Given the description of an element on the screen output the (x, y) to click on. 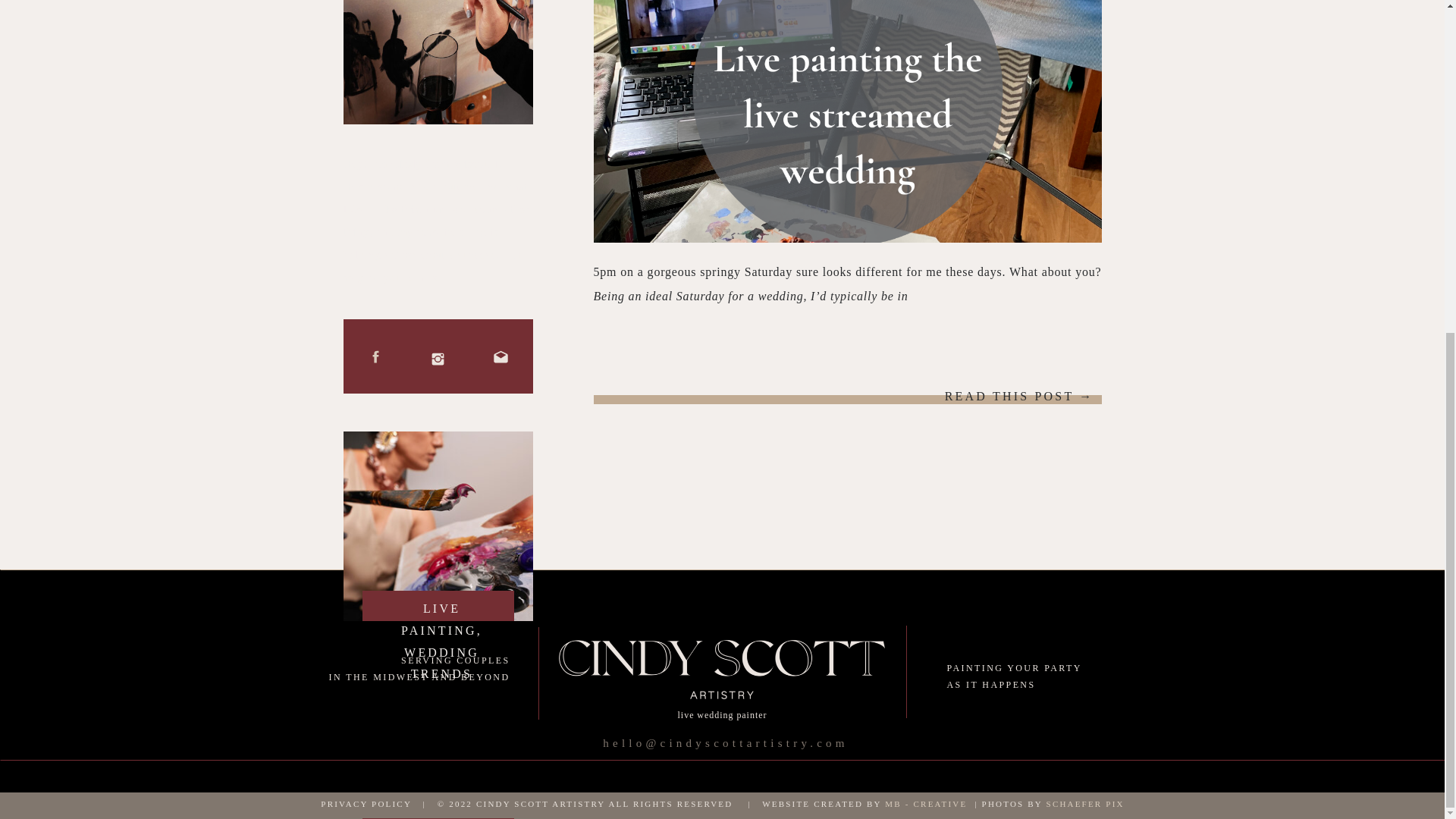
MB - CREATIVE (925, 803)
LIVE PAINTING (439, 619)
Live painting during corona days (1007, 394)
SCHAEFER PIX (1085, 803)
Live painting during corona days (846, 121)
WEDDING TRENDS (441, 663)
